Given the description of an element on the screen output the (x, y) to click on. 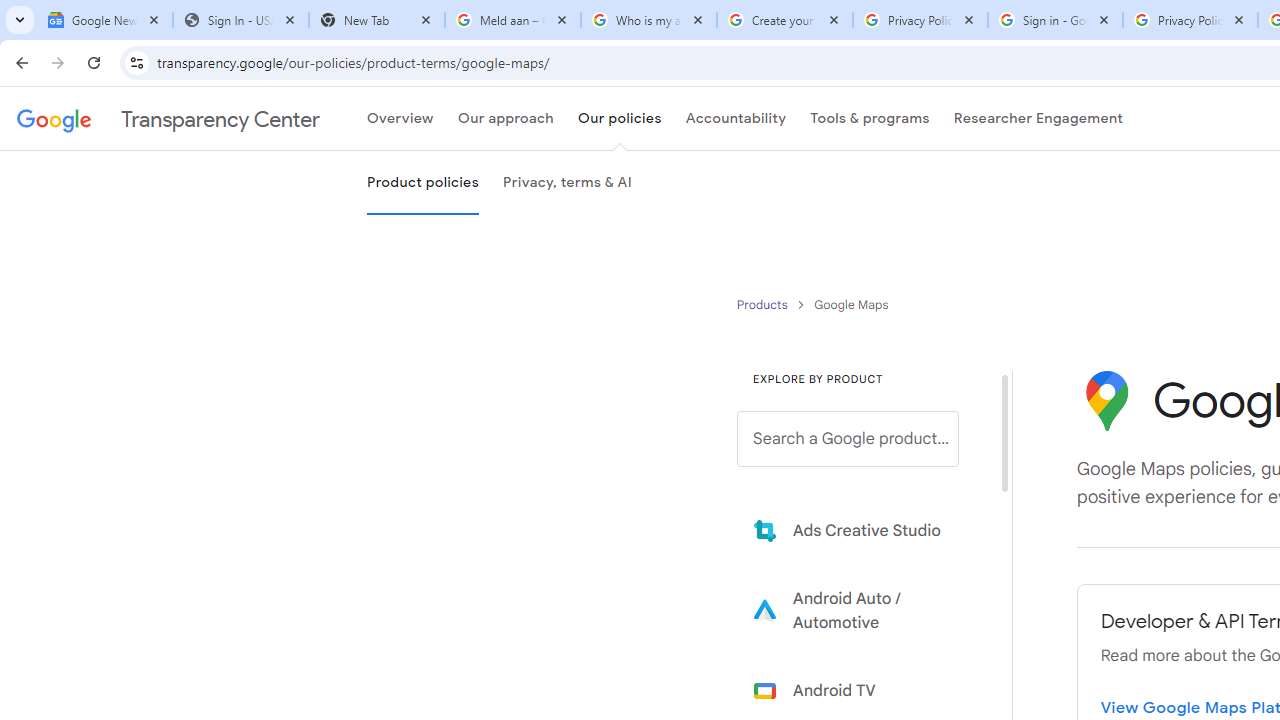
Product policies (763, 304)
Learn more about Android Auto (862, 610)
Who is my administrator? - Google Account Help (648, 20)
Our approach (505, 119)
Accountability (735, 119)
Sign in - Google Accounts (1055, 20)
Learn more about Ads Creative Studio (862, 530)
Learn more about Ads Creative Studio (862, 530)
